Given the description of an element on the screen output the (x, y) to click on. 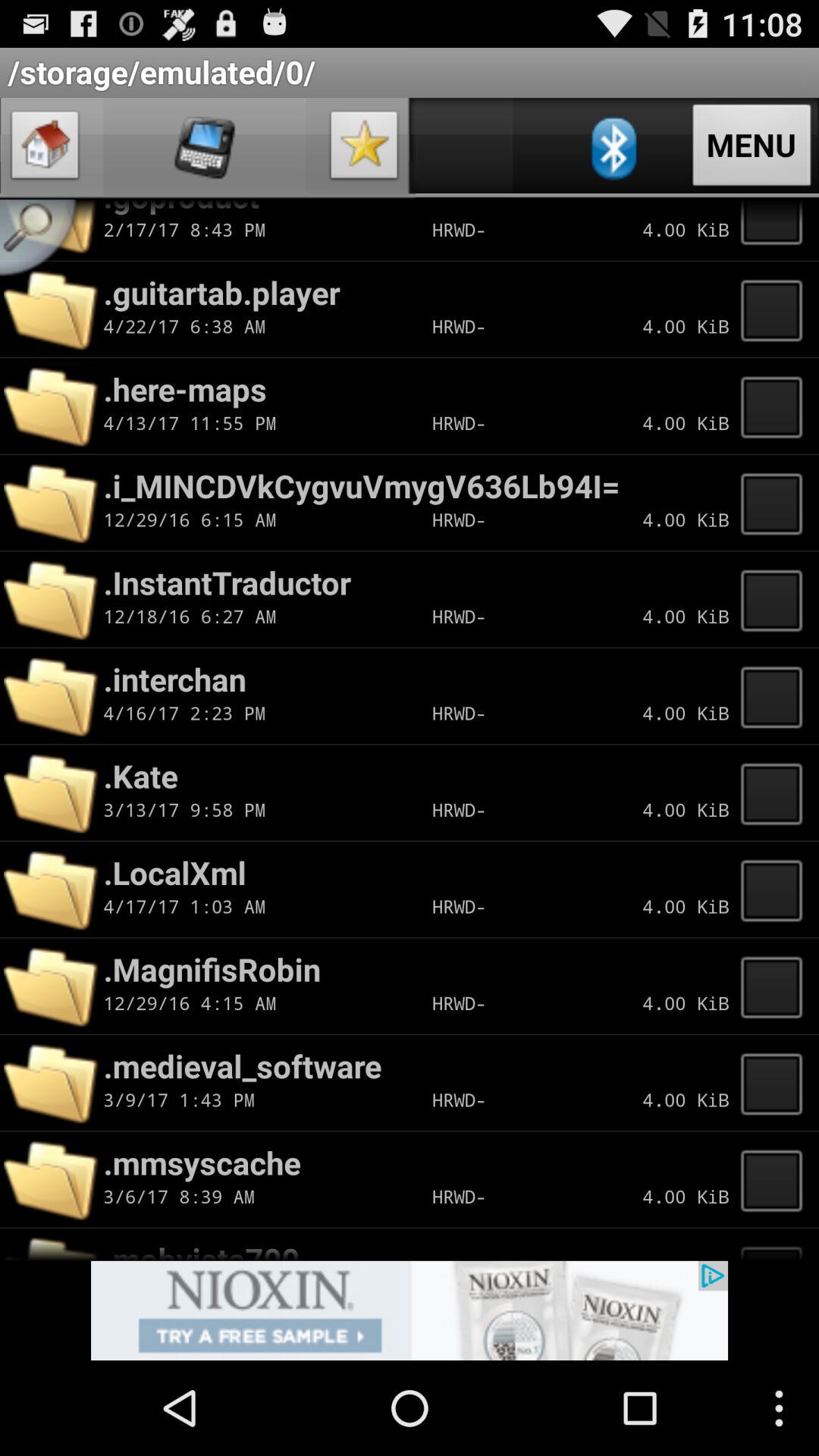
select folder (776, 792)
